Given the description of an element on the screen output the (x, y) to click on. 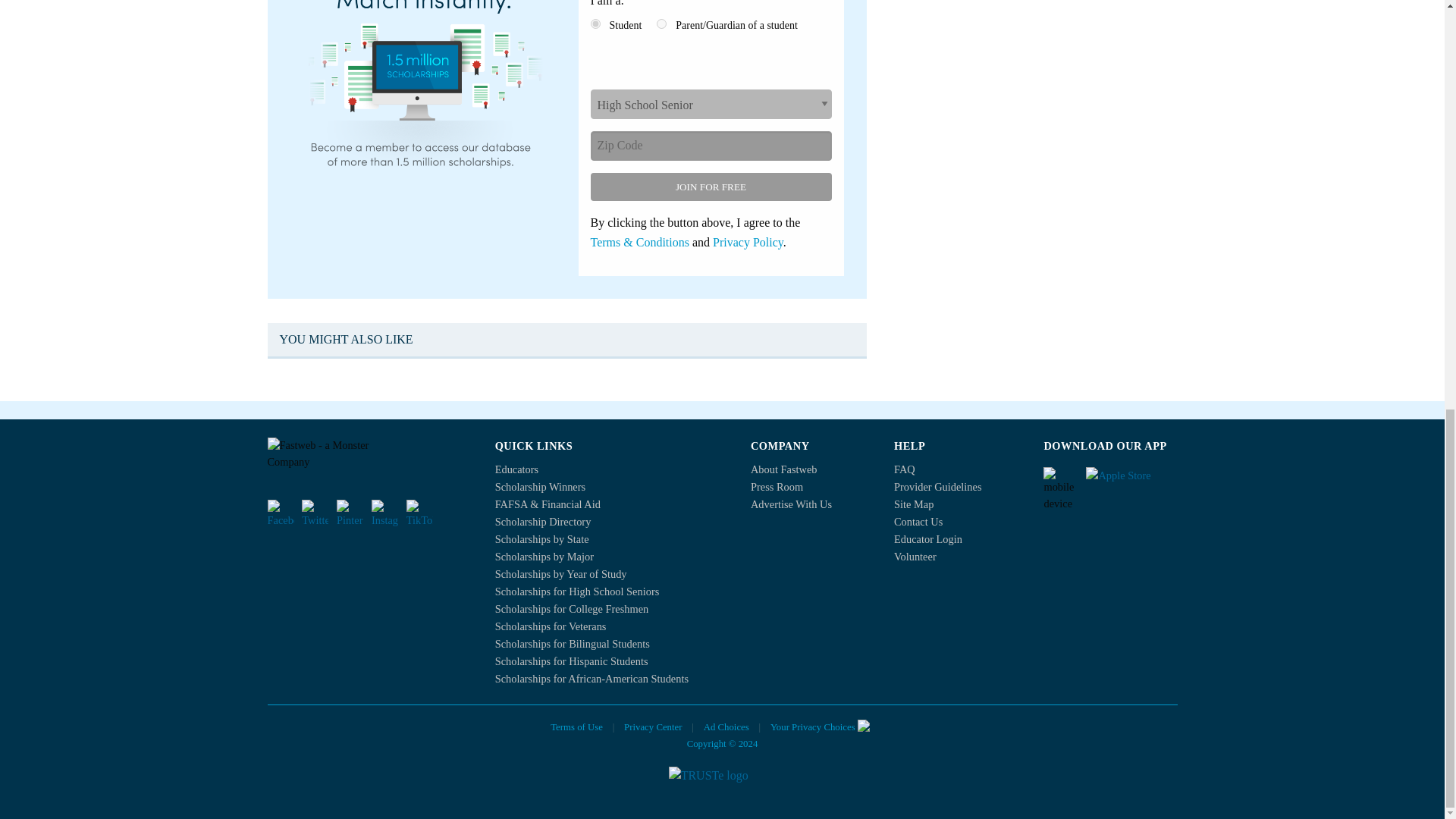
2 (661, 23)
Fastweb on Instagram (384, 512)
1 (594, 23)
Fastweb on IOS (1131, 480)
Fastweb on Facebook (280, 512)
Join for free (710, 186)
Fastweb on Pinterest (349, 512)
Fastweb on TikTok (419, 512)
